Given the description of an element on the screen output the (x, y) to click on. 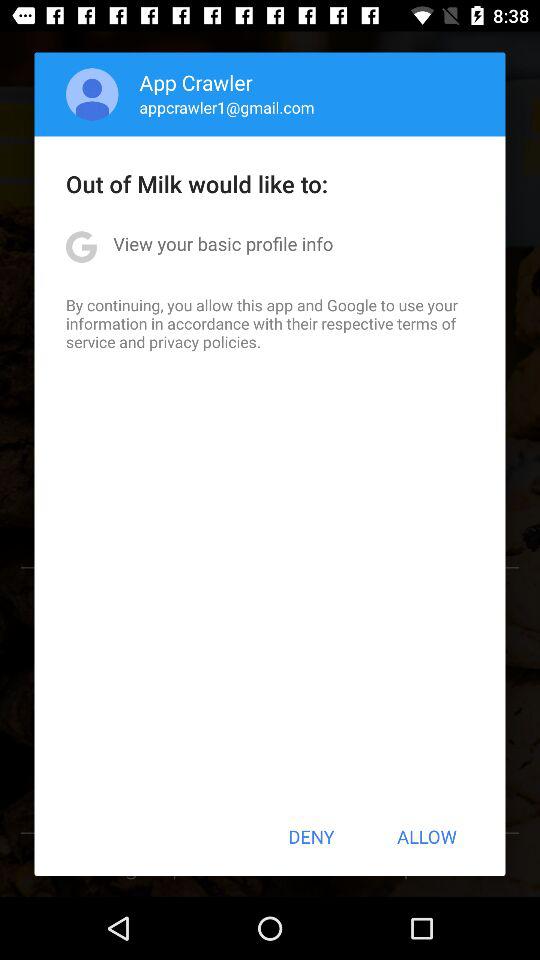
jump to the app crawler item (195, 82)
